Given the description of an element on the screen output the (x, y) to click on. 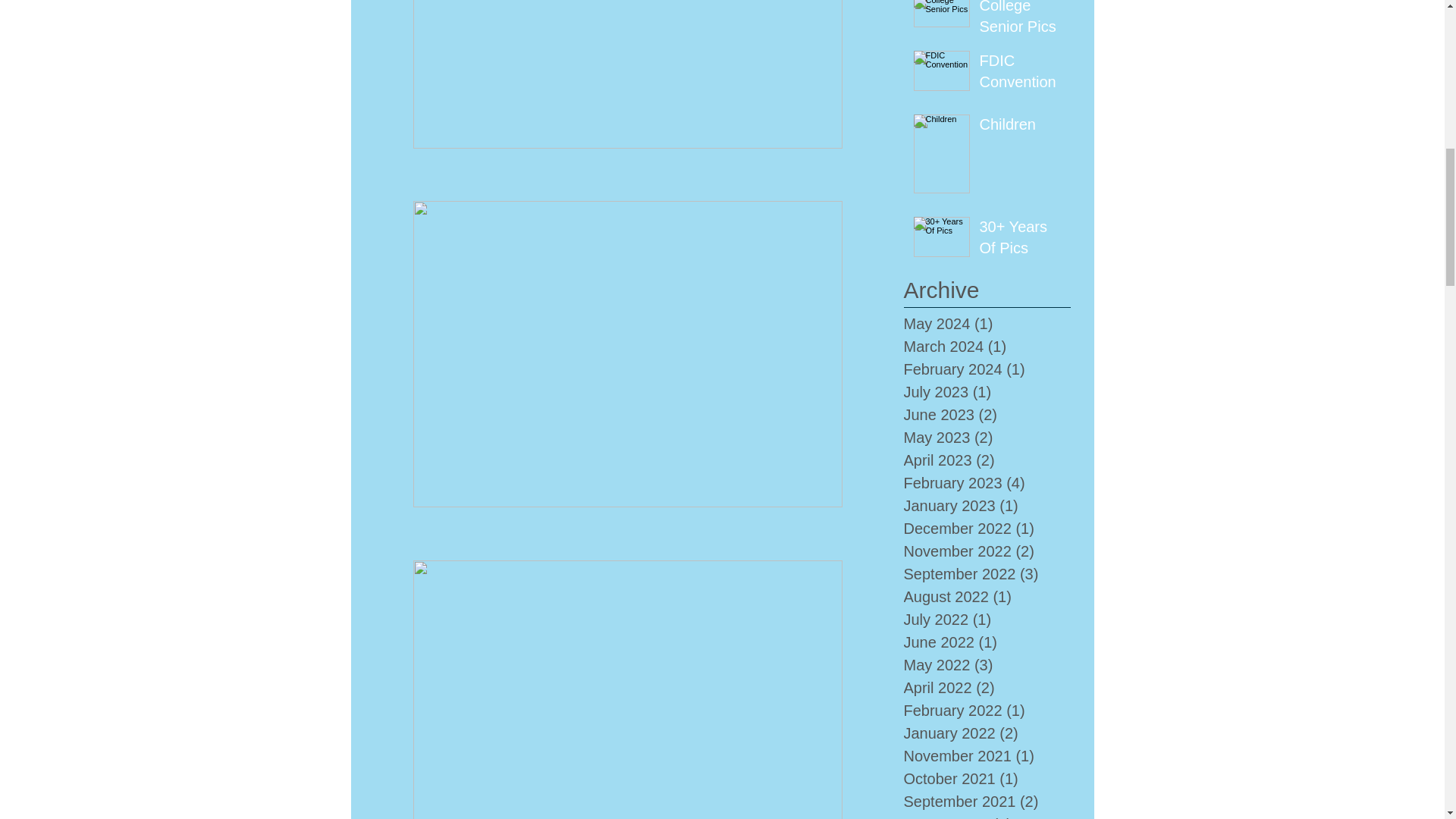
Children (1020, 126)
FDIC Convention (1020, 73)
College Senior Pics (1020, 21)
